Given the description of an element on the screen output the (x, y) to click on. 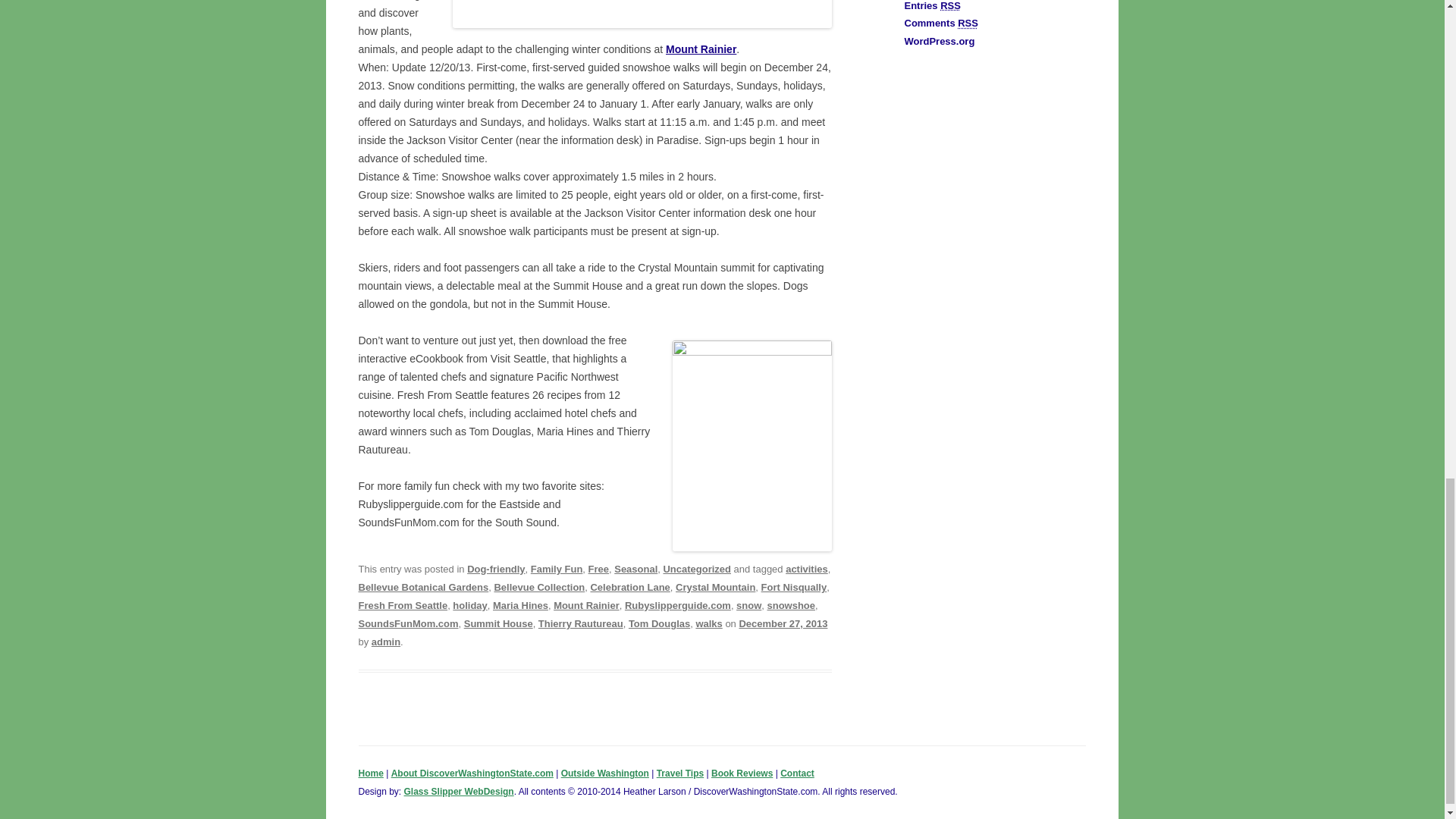
Celebration Lane (629, 586)
SoundsFunMom.com (408, 623)
Crystal Mountain (715, 586)
activities (807, 568)
Uncategorized (696, 568)
Mount Rainier (700, 49)
Dog-friendly (495, 568)
Really Simple Syndication (968, 22)
Really Simple Syndication (950, 5)
Bellevue Collection (539, 586)
Maria Hines (520, 604)
Mount Rainier (586, 604)
Fort Nisqually (794, 586)
Fresh From Seattle (402, 604)
